Given the description of an element on the screen output the (x, y) to click on. 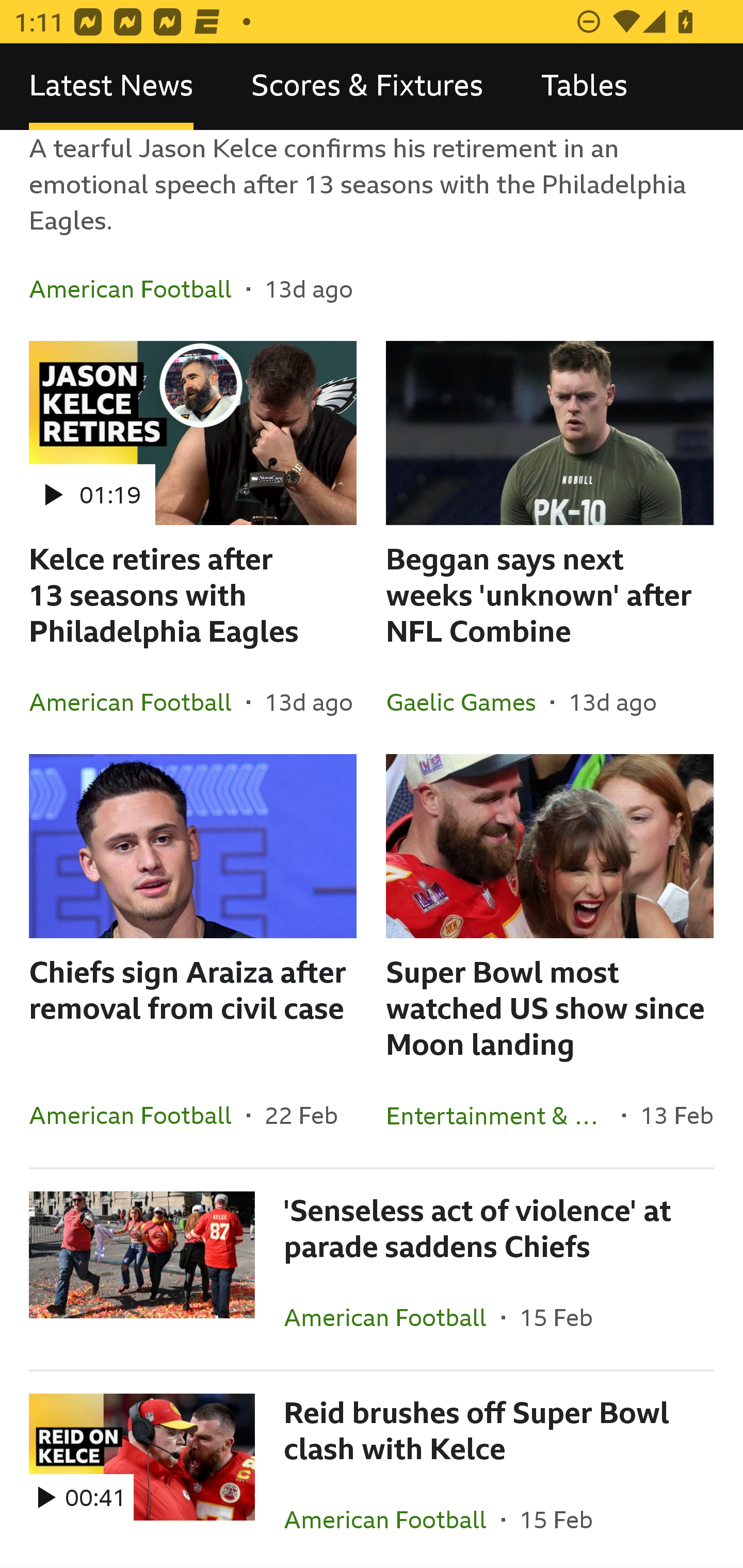
Latest News, selected Latest News (111, 86)
Scores & Fixtures (367, 86)
Tables (584, 86)
Gaelic Games In the section Gaelic Games (467, 701)
